Given the description of an element on the screen output the (x, y) to click on. 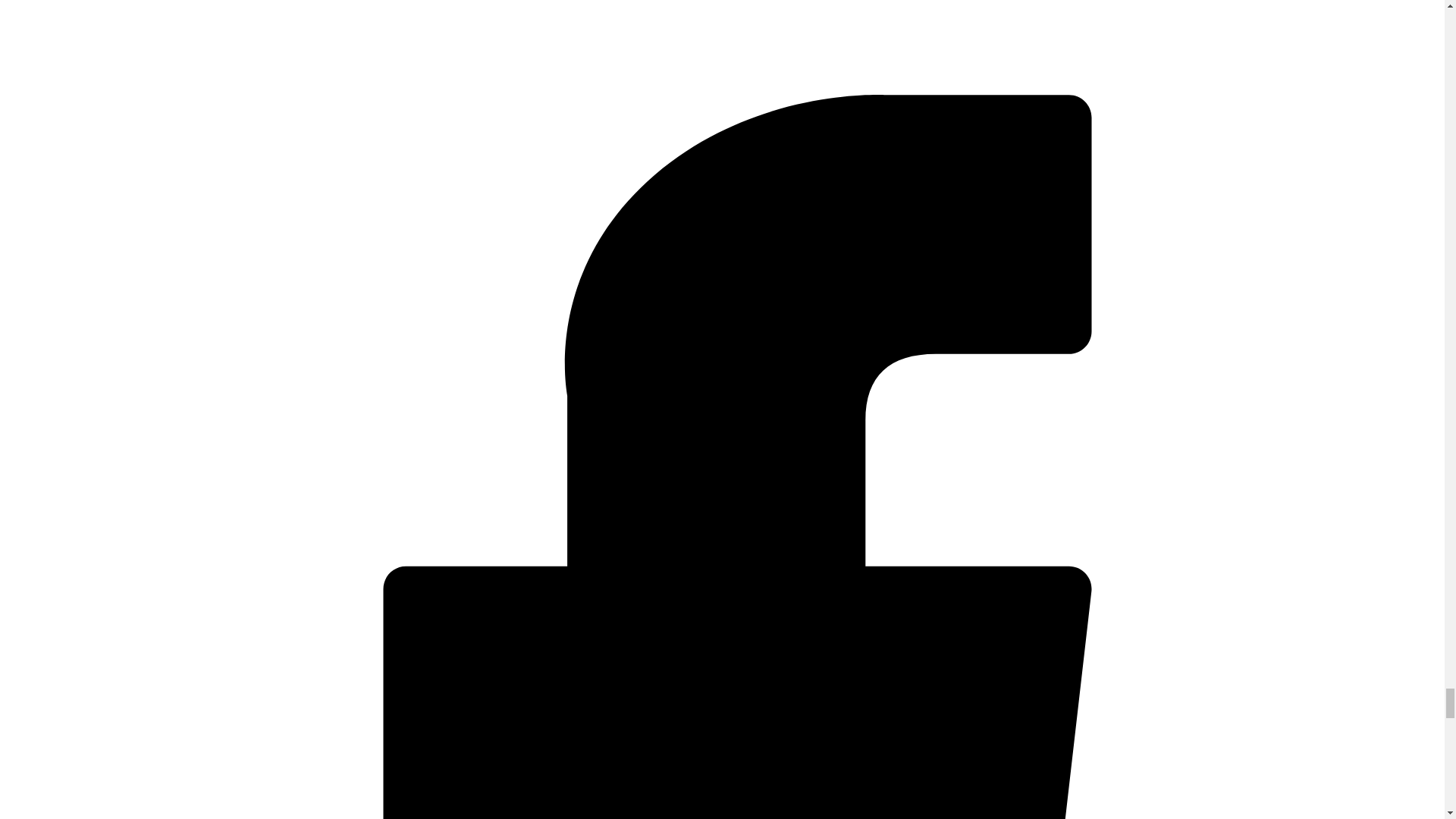
Mosaic Digital (100, 50)
